Given the description of an element on the screen output the (x, y) to click on. 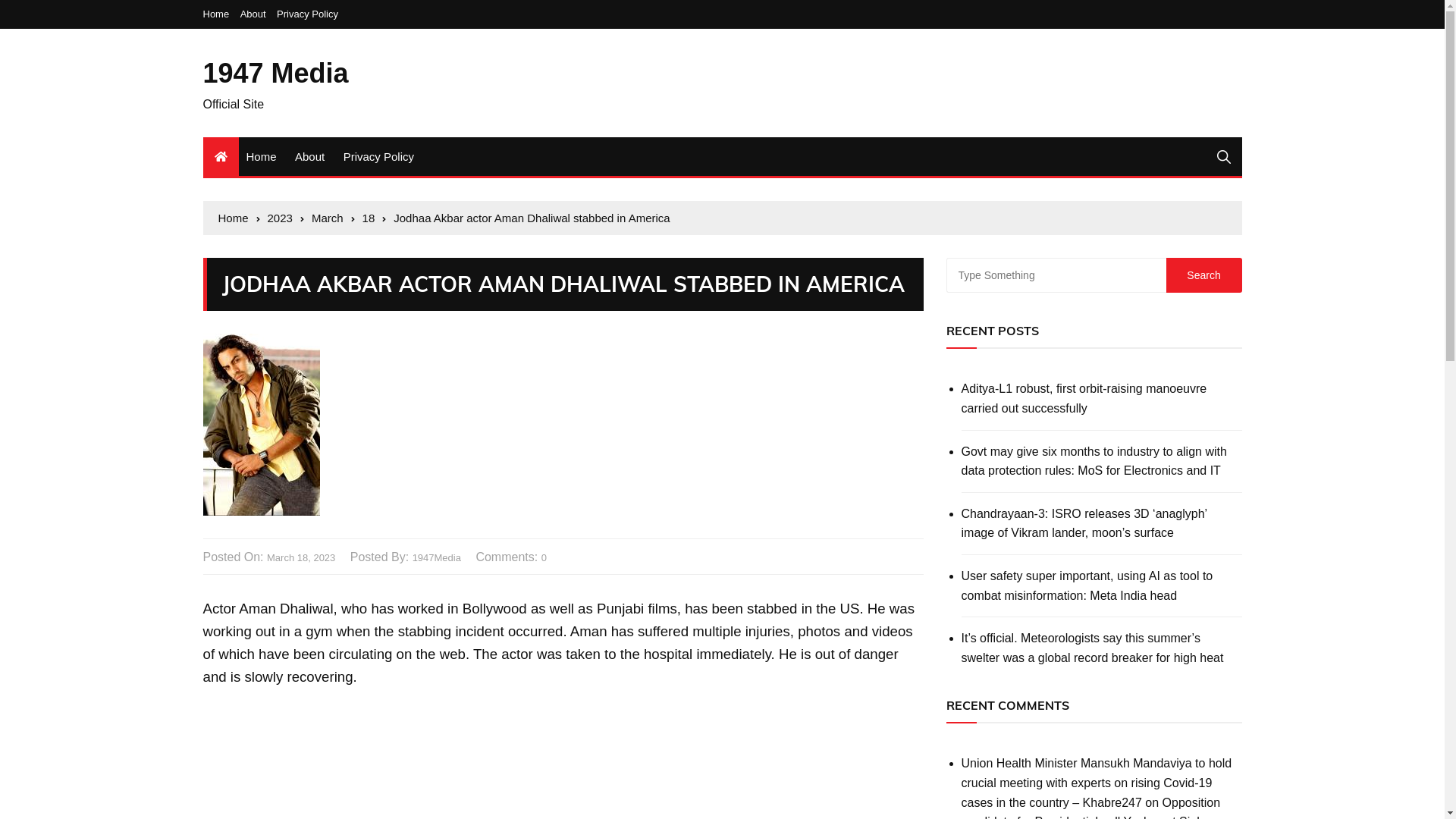
Privacy Policy Element type: text (378, 156)
Search Element type: text (1204, 274)
Privacy Policy Element type: text (307, 13)
2023 Element type: text (285, 218)
18 Element type: text (374, 218)
0 Element type: text (543, 558)
Home Element type: text (260, 156)
March Element type: text (332, 218)
1947 Media Element type: text (275, 72)
March 18, 2023 Element type: text (300, 558)
Home Element type: text (239, 218)
Home Element type: text (220, 13)
About Element type: text (256, 13)
About Element type: text (309, 156)
1947Media Element type: text (436, 558)
Jodhaa Akbar actor Aman Dhaliwal stabbed in America Element type: text (531, 218)
